Given the description of an element on the screen output the (x, y) to click on. 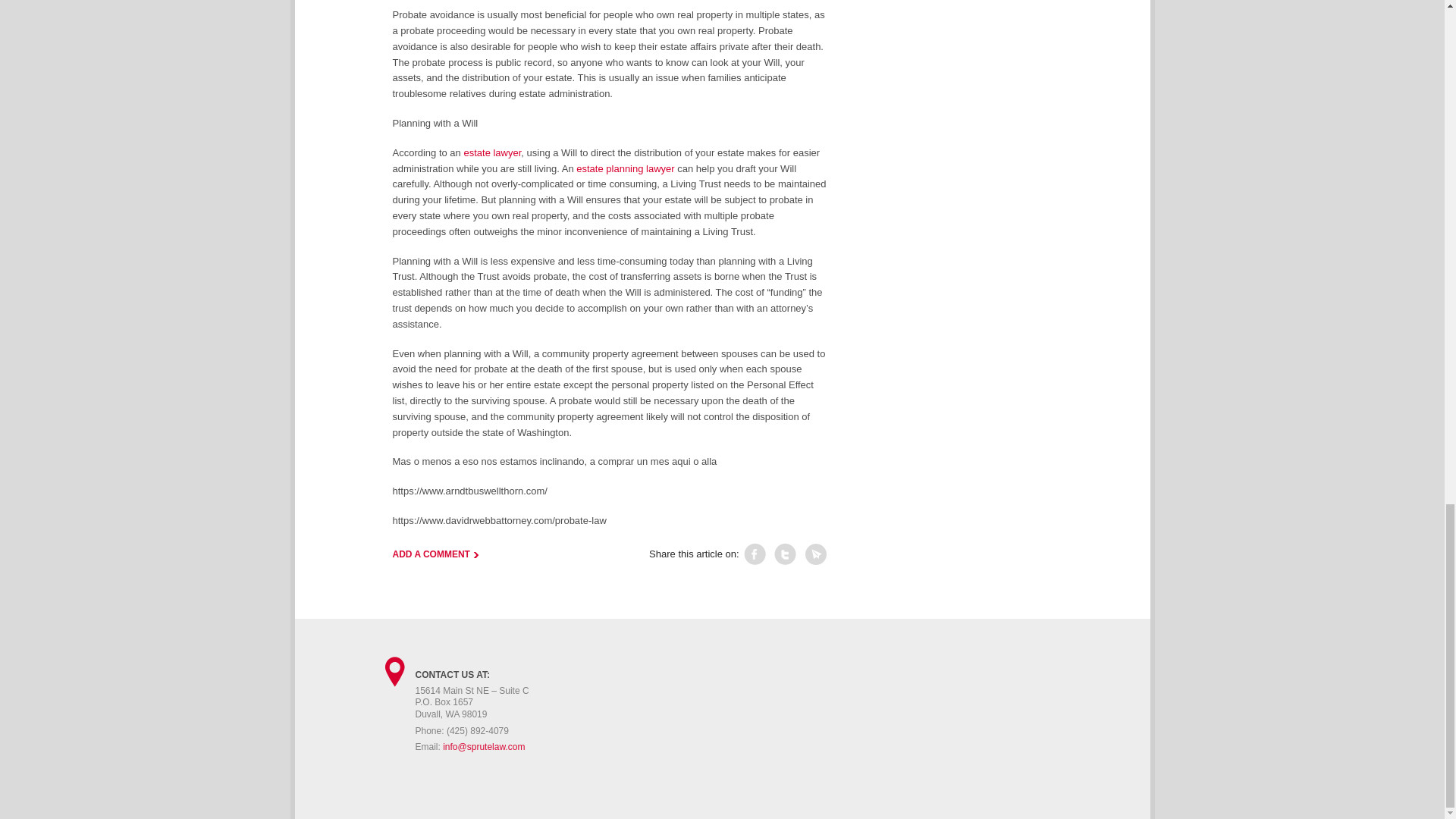
estate lawyer (492, 152)
estate planning lawyer (625, 168)
ADD A COMMENT (436, 553)
